Given the description of an element on the screen output the (x, y) to click on. 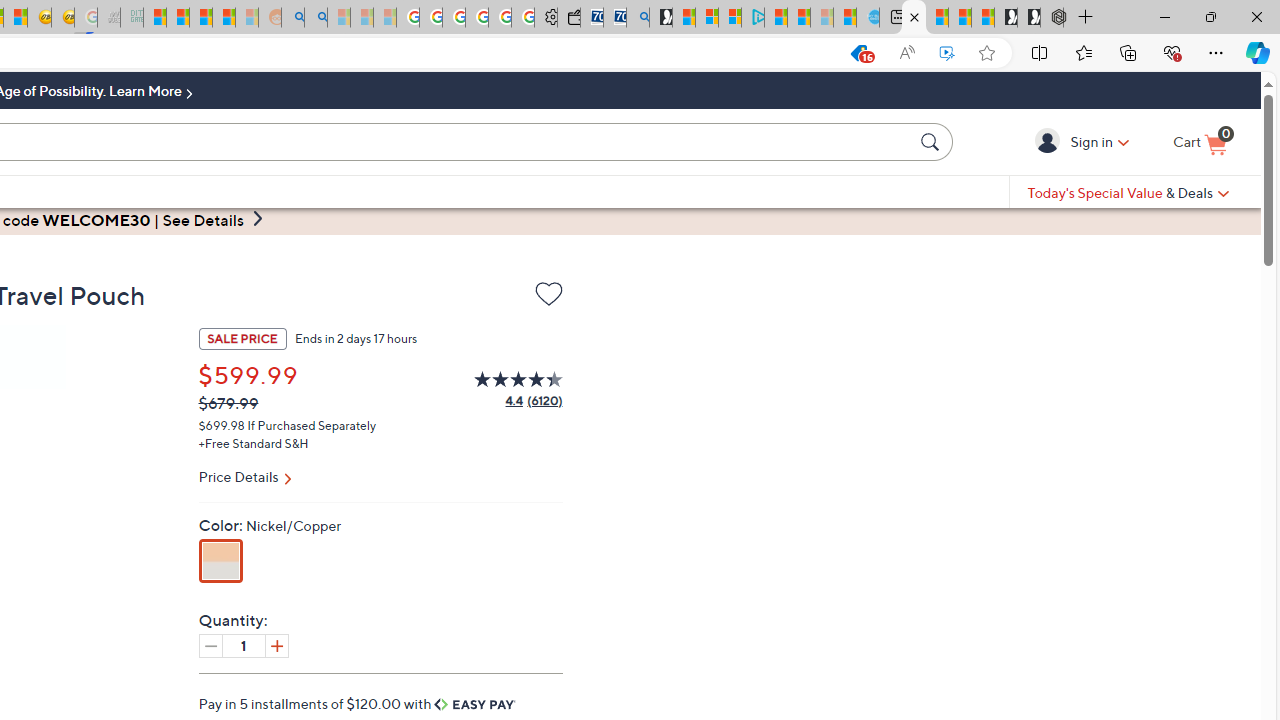
Pay in 5 installments of $120.00 with Easy Pay (357, 703)
If Purchased Separately (312, 424)
SALE PRICE (242, 337)
